Given the description of an element on the screen output the (x, y) to click on. 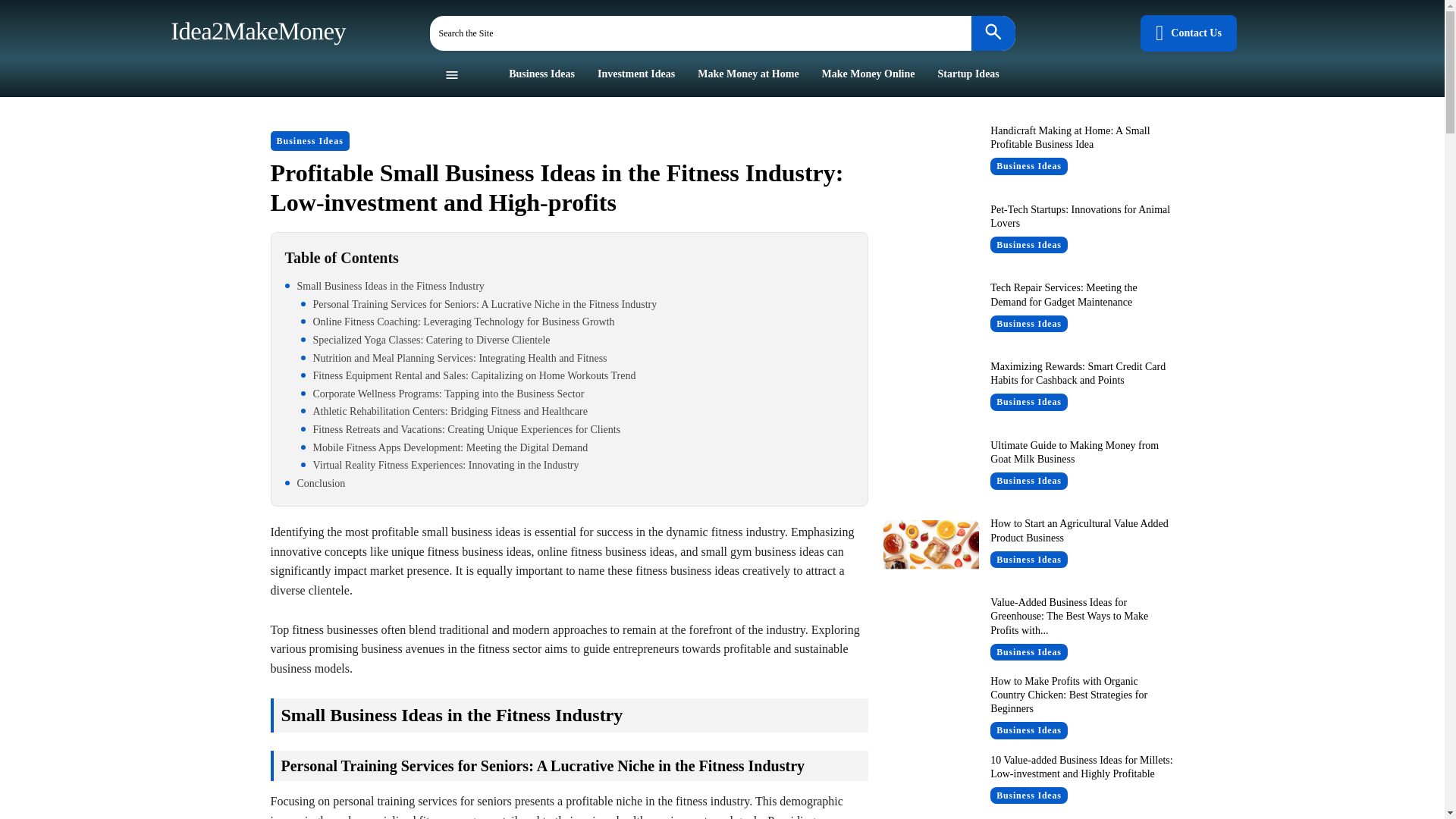
Contact Us (1188, 33)
Handicraft Making at Home: A Small Profitable Business Idea (1070, 137)
Contact Us (1188, 33)
Pet-Tech Startups: Innovations for Animal Lovers (1080, 216)
Handicraft Making at Home: A Small Profitable Business Idea (930, 160)
Idea2MakeMoney (255, 29)
Idea2MakeMoney (255, 29)
Ultimate Guide to Making Money from Goat Milk Business (930, 475)
Pet-Tech Startups: Innovations for Animal Lovers (930, 239)
